Given the description of an element on the screen output the (x, y) to click on. 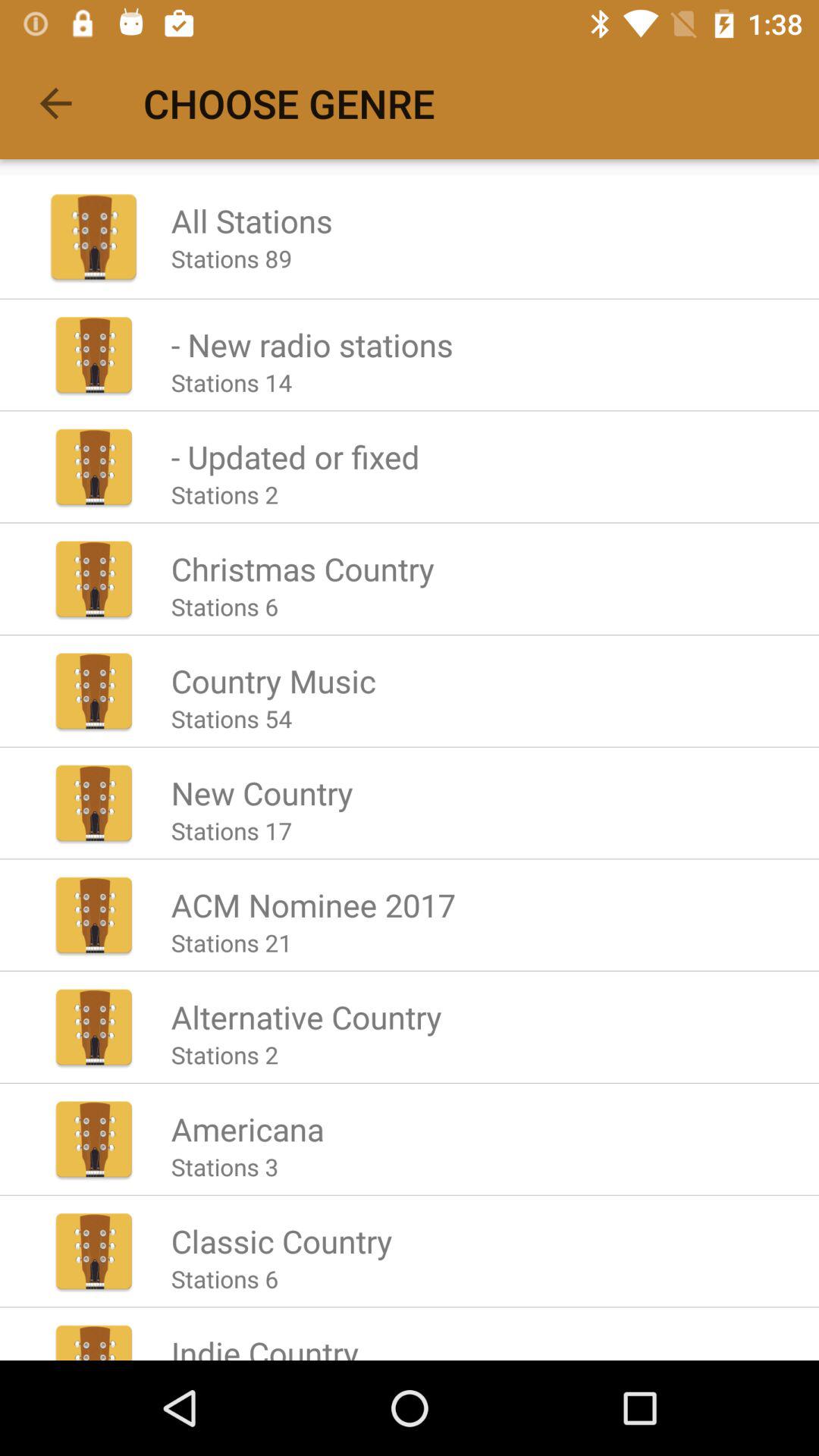
select the item below the all stations icon (231, 258)
